Given the description of an element on the screen output the (x, y) to click on. 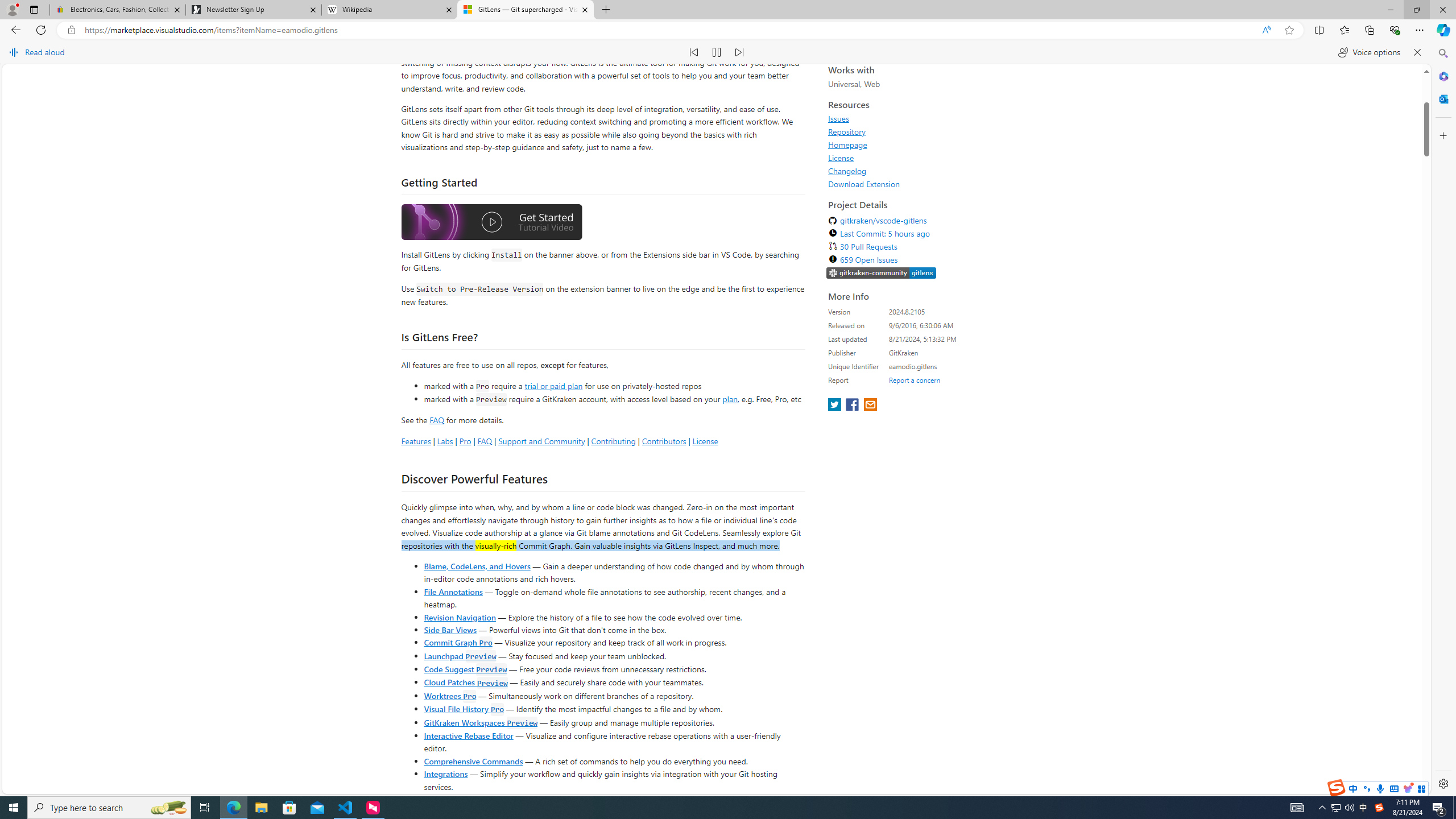
Report a concern (914, 565)
https://slack.gitkraken.com// (881, 460)
Watch the GitLens Getting Started video (491, 408)
Repository (931, 317)
Labs (444, 627)
Read next paragraph (739, 52)
Rating & Review (618, 115)
